Given the description of an element on the screen output the (x, y) to click on. 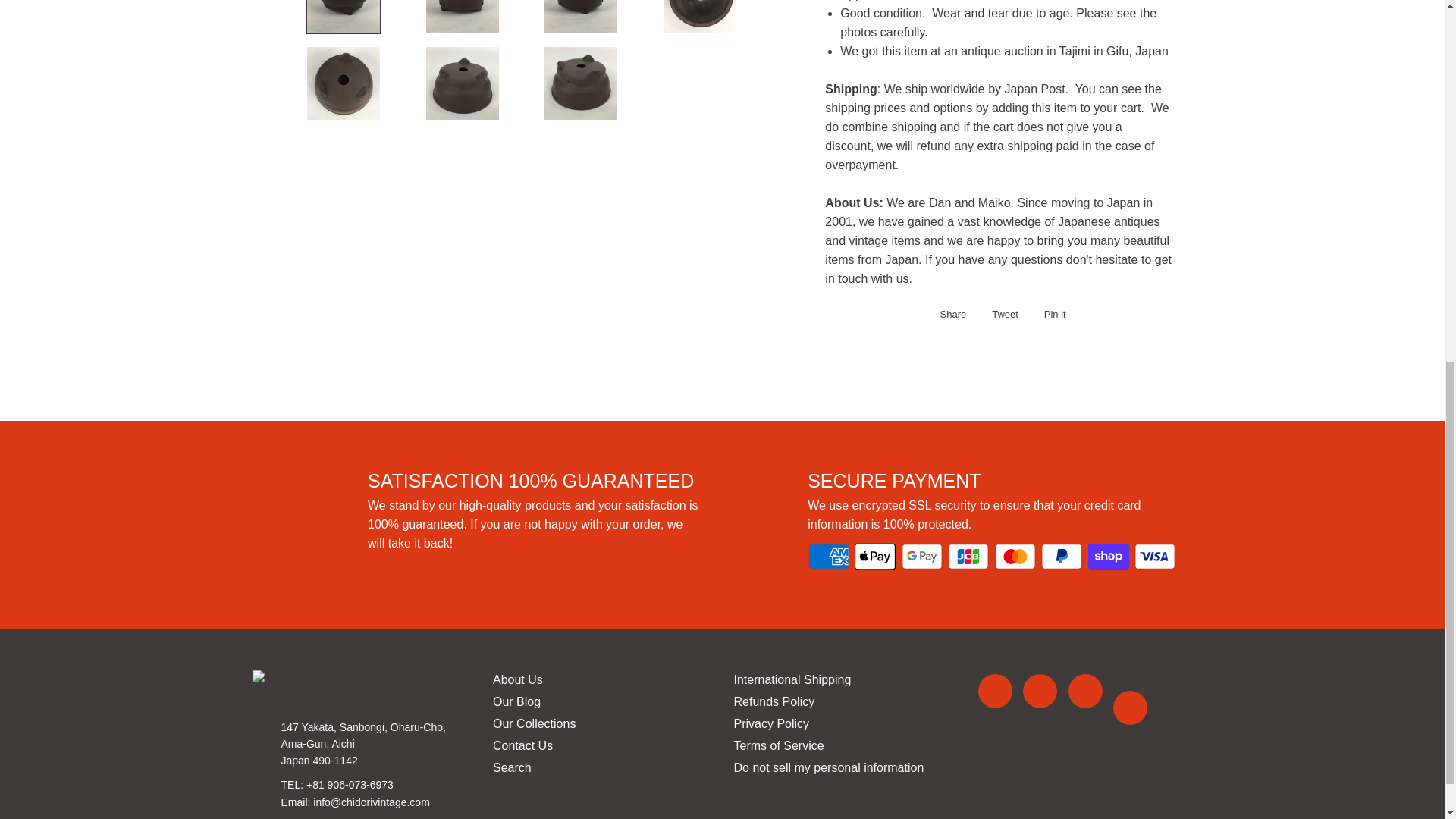
chidorivintage.com on Pinterest (1085, 691)
Share on Facebook (949, 314)
Shop Pay (1108, 556)
Google Pay (921, 556)
Mastercard (1014, 556)
Visa (1154, 556)
Apple Pay (874, 556)
PayPal (1061, 556)
American Express (828, 556)
chidorivintage.com on Facebook (994, 691)
Pin on Pinterest (1051, 314)
chidorivintage.com on Instagram (1130, 707)
JCB (967, 556)
Tweet on Twitter (1001, 314)
chidorivintage.com on Twitter (1040, 691)
